Given the description of an element on the screen output the (x, y) to click on. 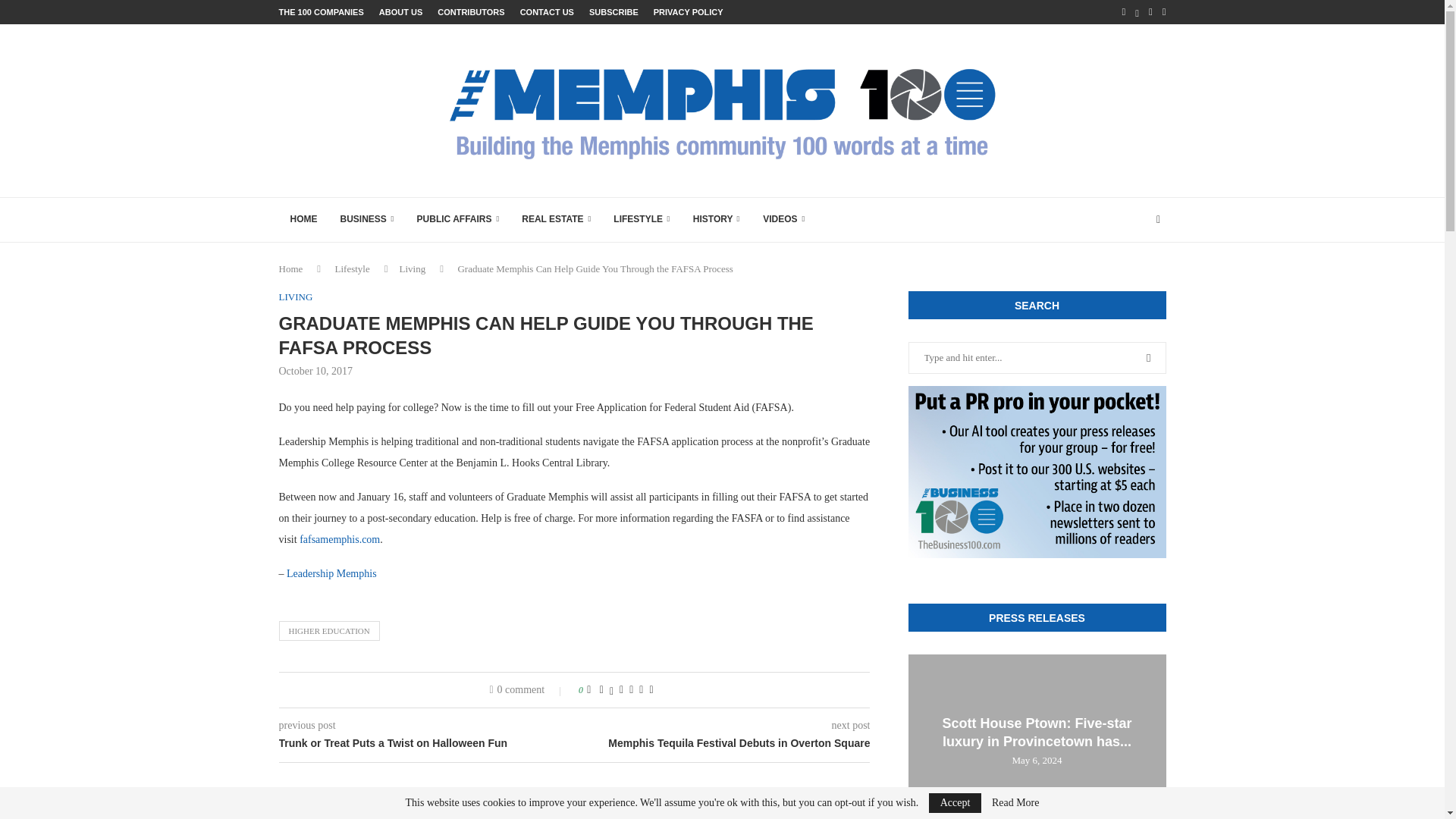
CONTACT US (546, 12)
HOME (304, 219)
PRIVACY POLICY (688, 12)
THE 100 COMPANIES (321, 12)
ABOUT US (400, 12)
BUSINESS (367, 219)
CONTRIBUTORS (470, 12)
SUBSCRIBE (614, 12)
